Given the description of an element on the screen output the (x, y) to click on. 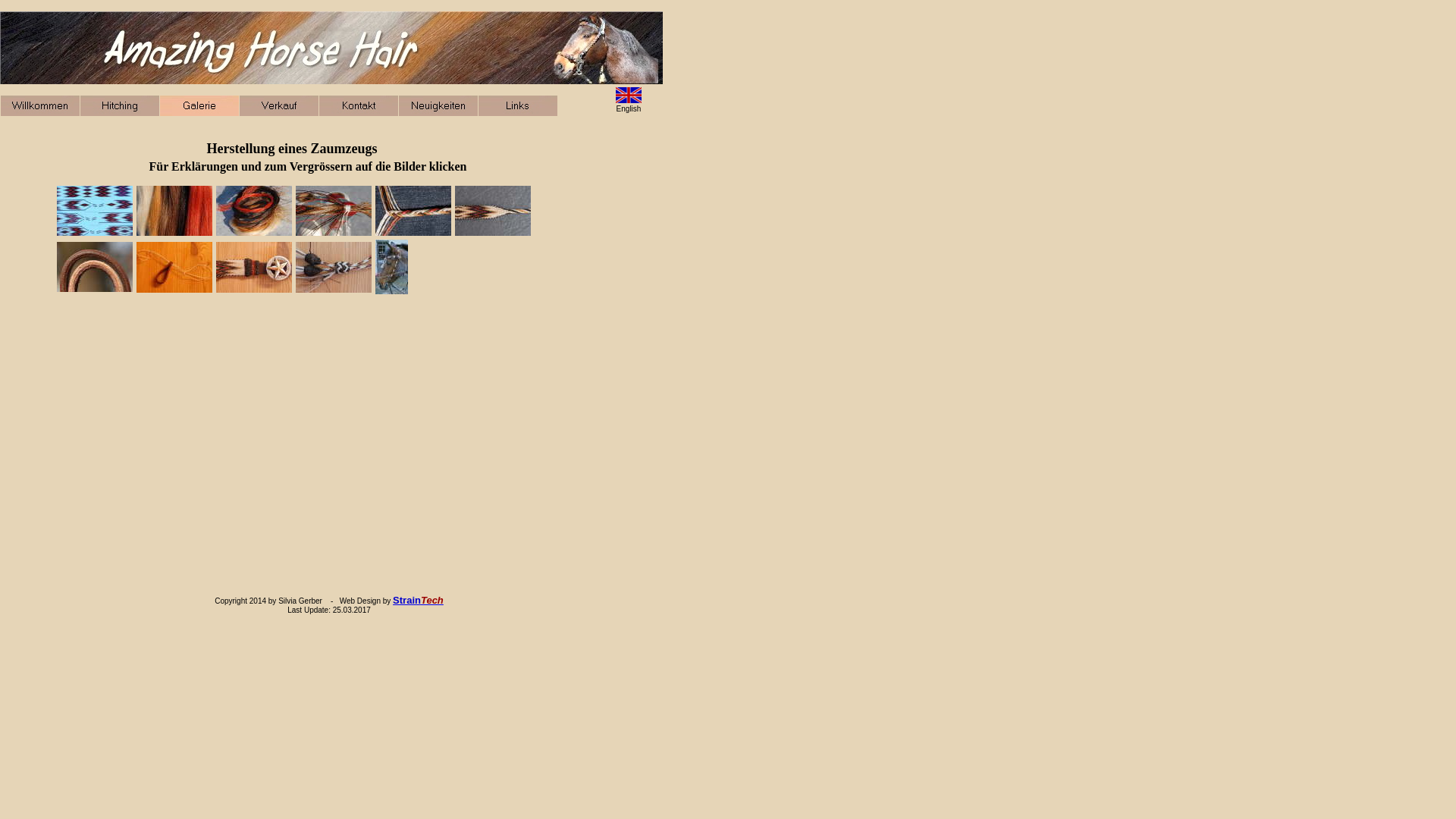
Links Element type: hover (517, 105)
Willkommen Element type: hover (39, 105)
Verkauf Element type: hover (278, 105)
Kontakt Element type: hover (358, 105)
Galerie Element type: hover (199, 105)
Neuigkeiten Element type: hover (437, 105)
Hitching Element type: hover (119, 105)
StrainTech Element type: text (417, 600)
